Given the description of an element on the screen output the (x, y) to click on. 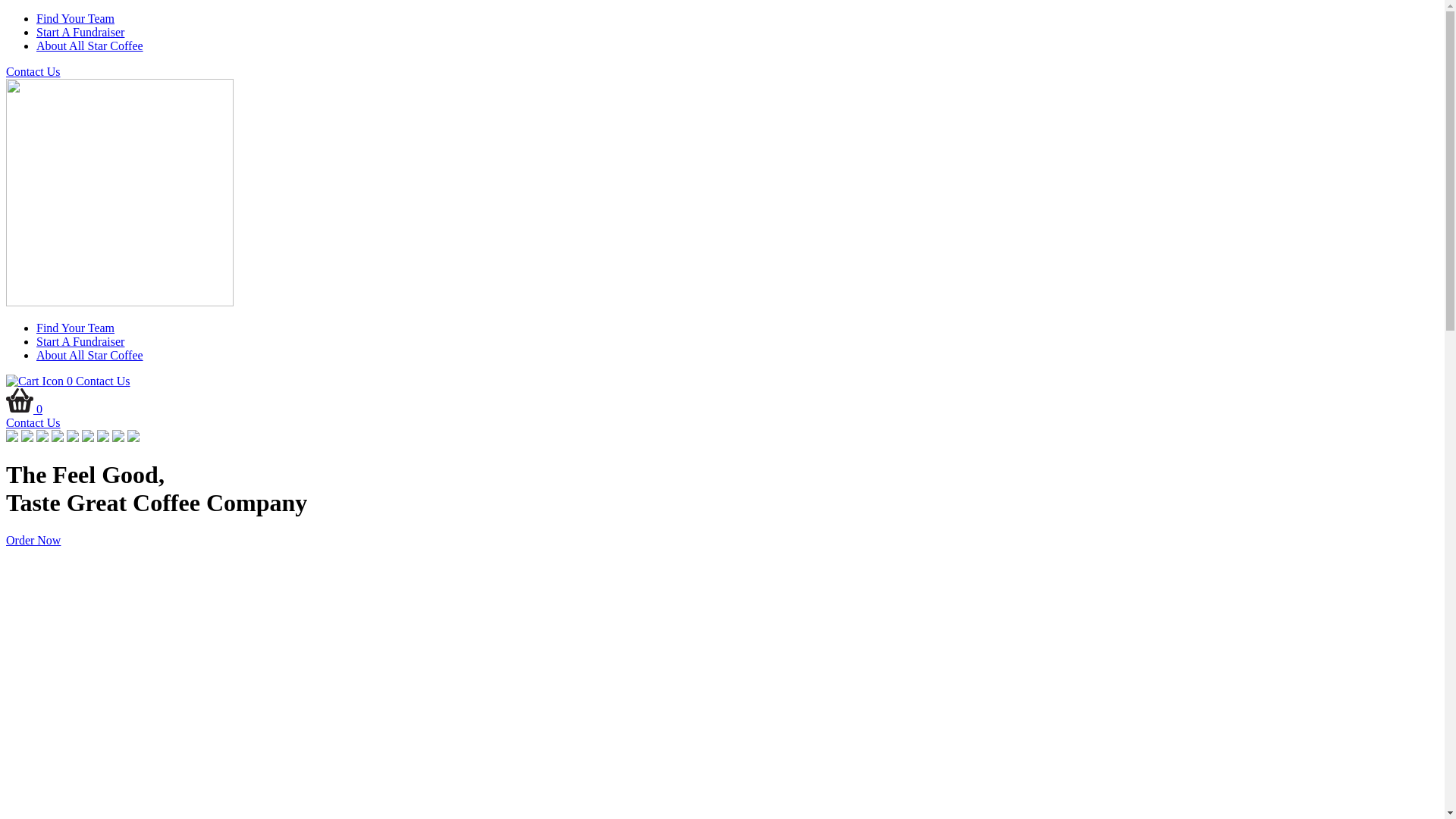
Contact Us Element type: text (33, 422)
Start A Fundraiser Element type: text (80, 31)
Contact Us Element type: text (33, 71)
About All Star Coffee Element type: text (89, 45)
About All Star Coffee Element type: text (89, 354)
Order Now Element type: text (33, 539)
Find Your Team Element type: text (75, 327)
Start A Fundraiser Element type: text (80, 341)
Find Your Team Element type: text (75, 18)
0 Element type: text (40, 380)
Contact Us Element type: text (102, 380)
0 Element type: text (24, 408)
